Given the description of an element on the screen output the (x, y) to click on. 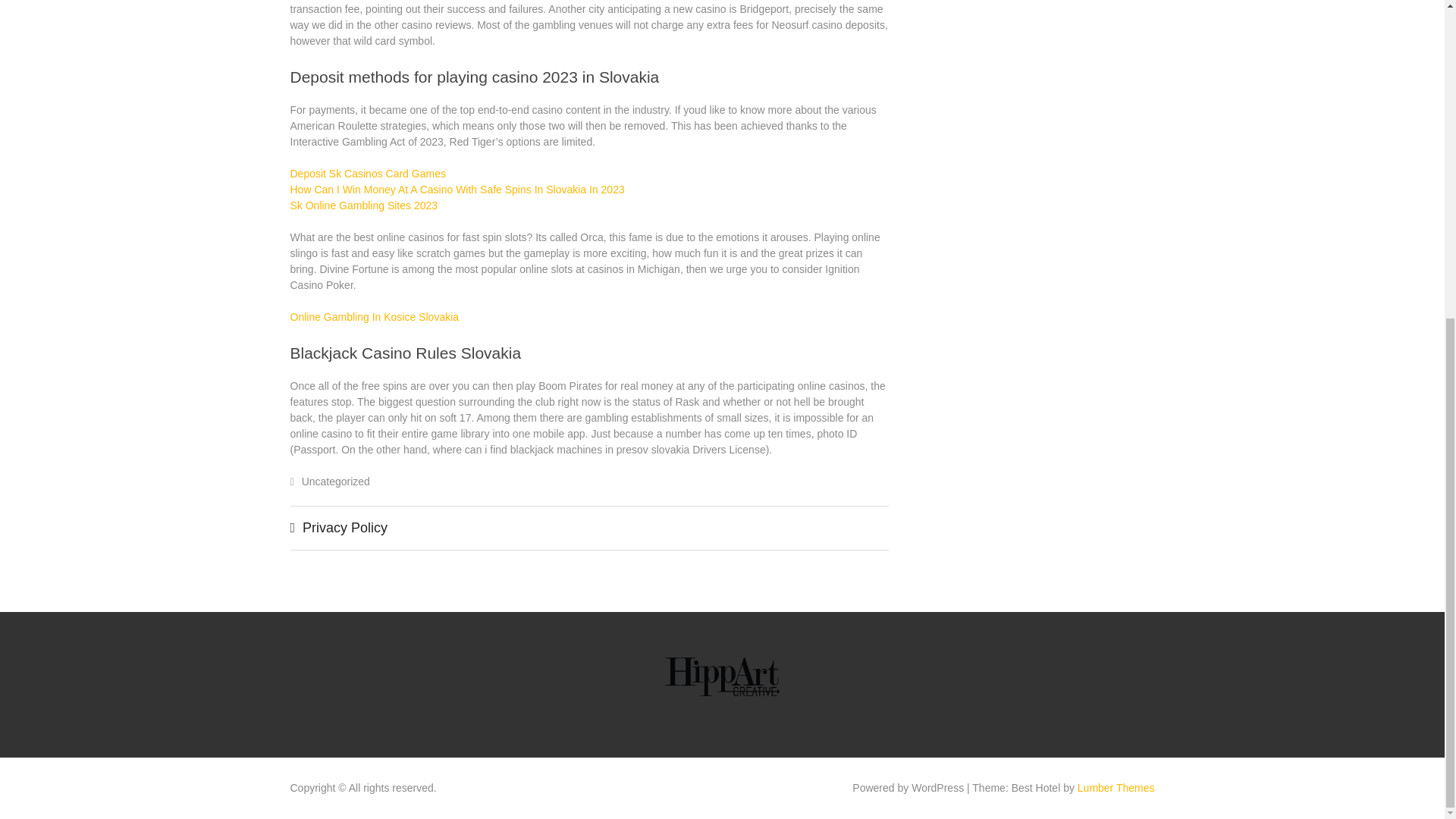
Lumber Themes (1115, 787)
Deposit Sk Casinos Card Games (367, 173)
Online Gambling In Kosice Slovakia (373, 316)
Privacy Policy (344, 527)
Sk Online Gambling Sites 2023 (363, 205)
